Given the description of an element on the screen output the (x, y) to click on. 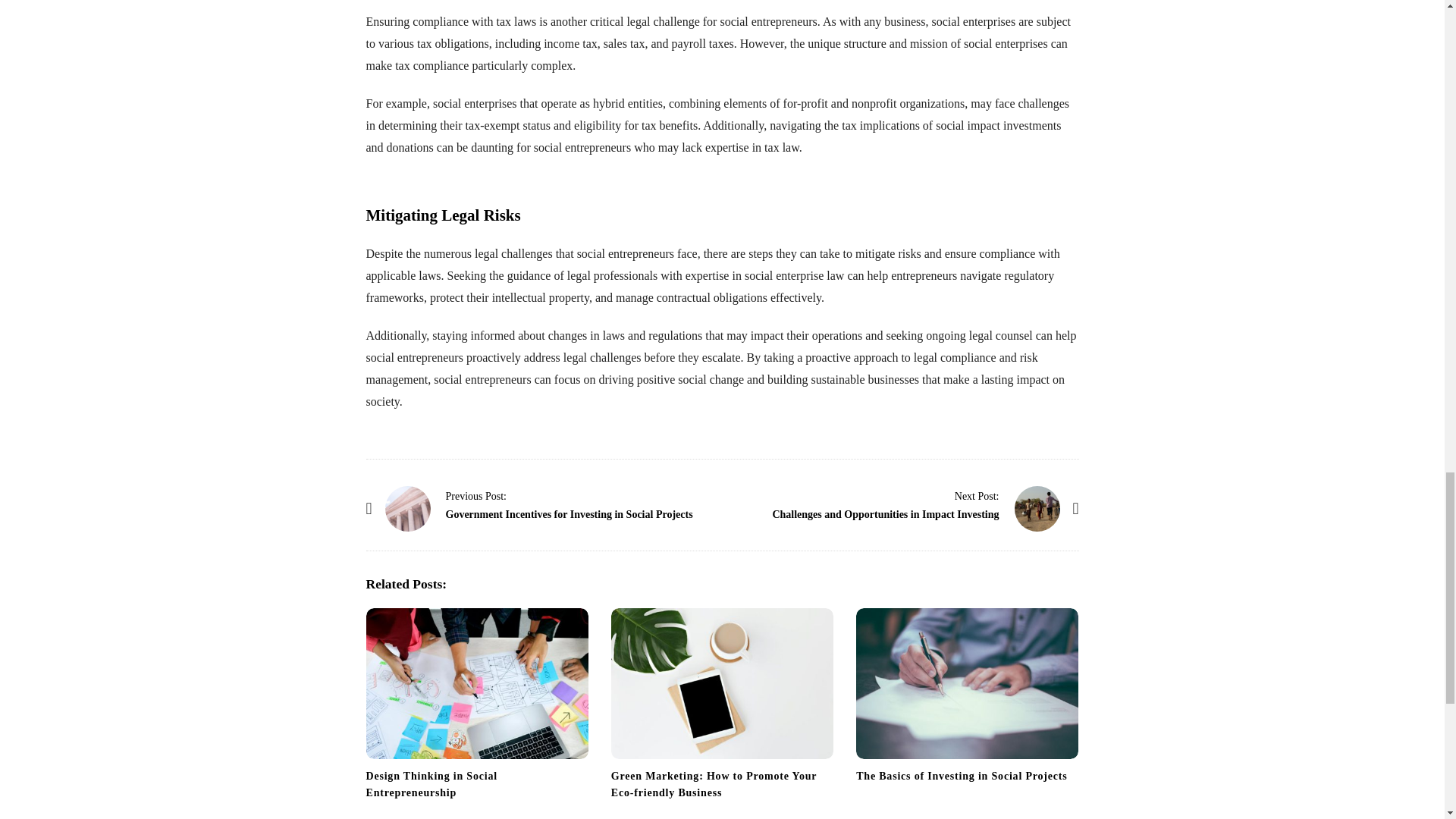
Next Post: (976, 495)
The Basics of Investing in Social Projects (961, 776)
Challenges and Opportunities in Impact Investing (884, 514)
Green Marketing: How to Promote Your Eco-friendly Business (721, 684)
Design Thinking in Social Entrepreneurship (430, 784)
Government Incentives for Investing in Social Projects (475, 495)
The Basics of Investing in Social Projects (961, 776)
Government Incentives for Investing in Social Projects (407, 508)
Green Marketing: How to Promote Your Eco-friendly Business (713, 784)
Design Thinking in Social Entrepreneurship (430, 784)
Government Incentives for Investing in Social Projects (569, 514)
Challenges and Opportunities in Impact Investing (1036, 508)
Previous Post: (475, 495)
Green Marketing: How to Promote Your Eco-friendly Business (713, 784)
The Basics of Investing in Social Projects (967, 684)
